Given the description of an element on the screen output the (x, y) to click on. 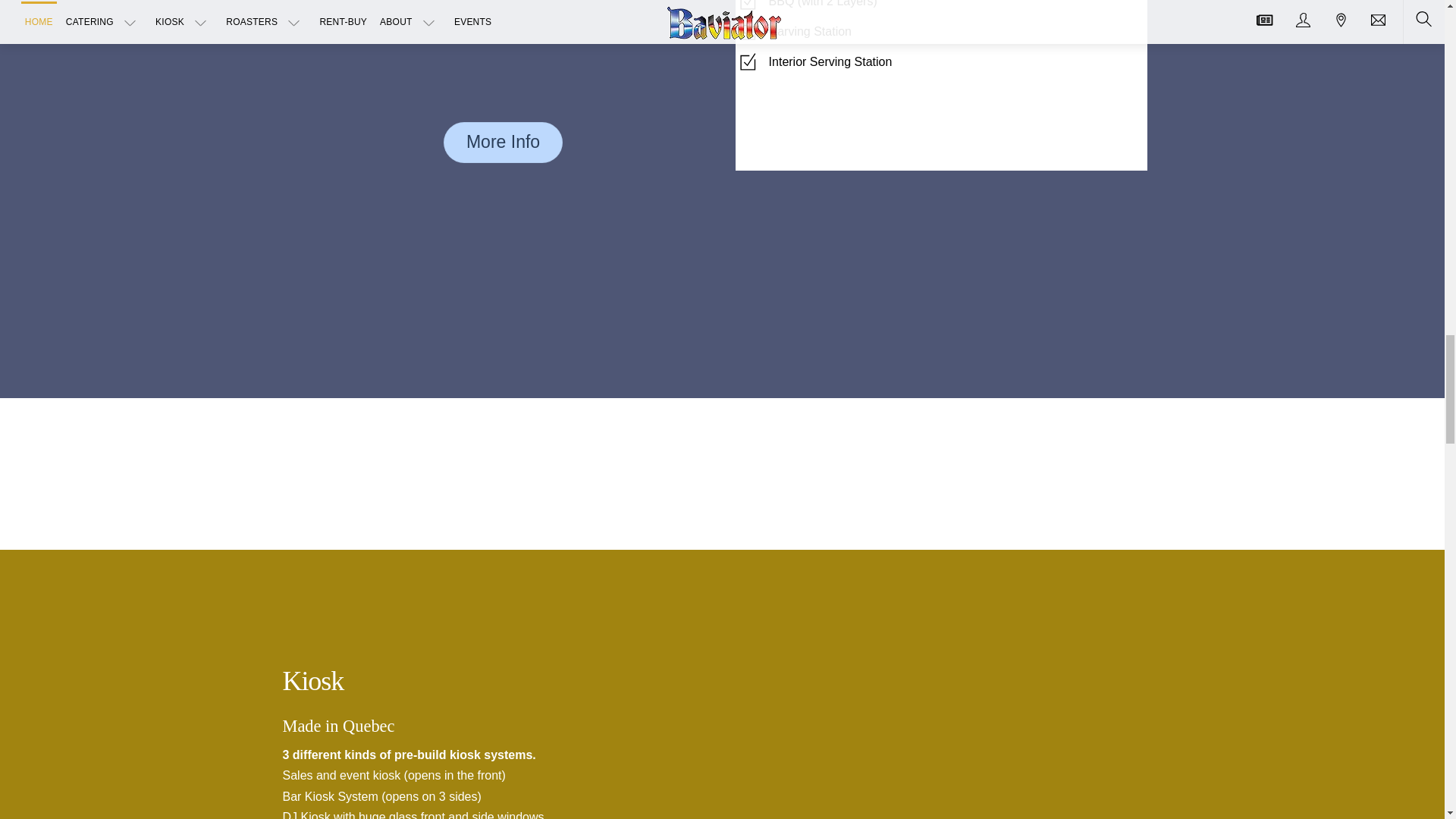
More Info (503, 142)
